Given the description of an element on the screen output the (x, y) to click on. 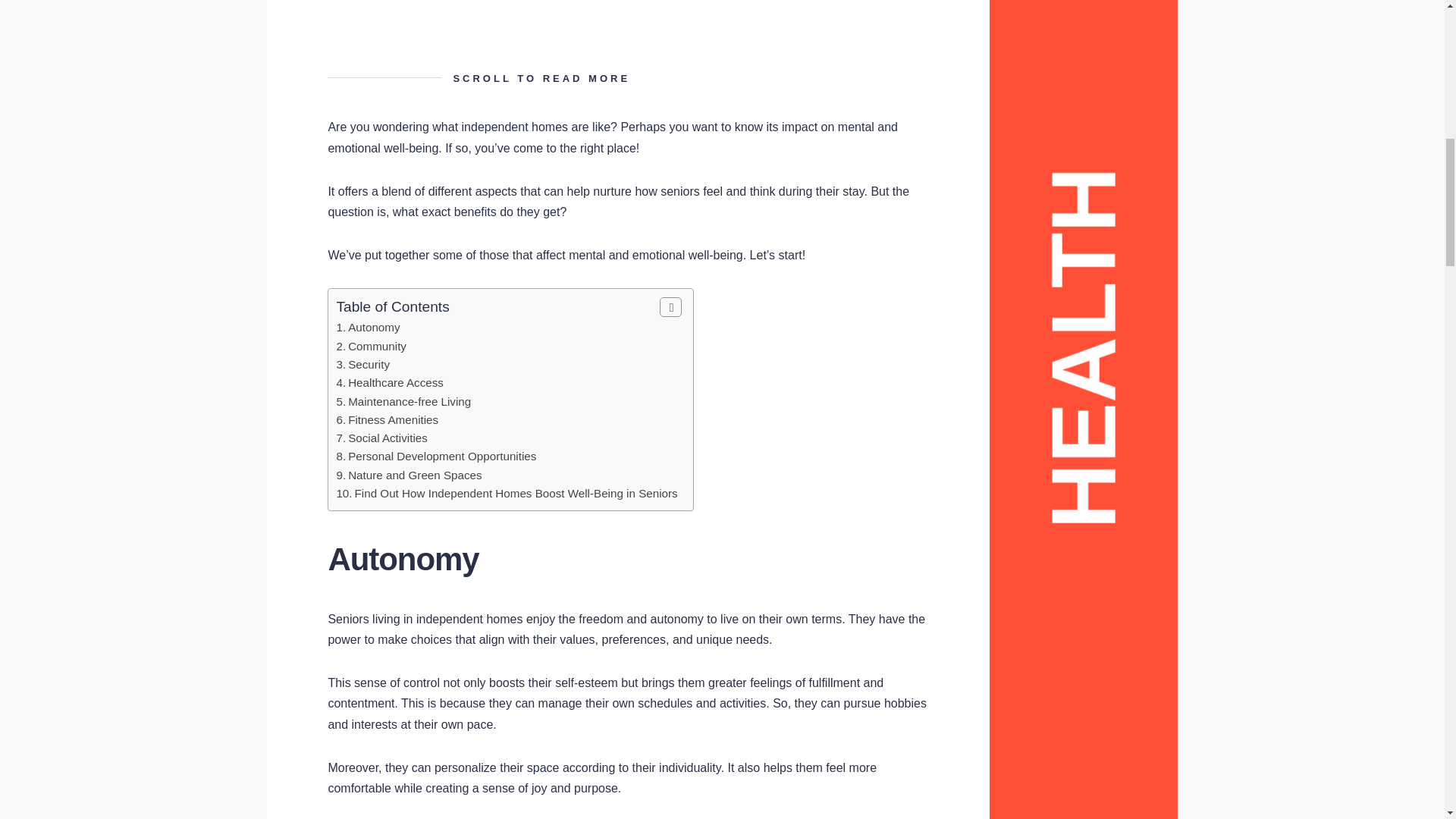
Community (376, 345)
SCROLL TO READ MORE (627, 78)
Fitness Amenities (392, 419)
Security (368, 364)
Healthcare Access (395, 382)
Find Out How Independent Homes Boost Well-Being in Seniors (516, 492)
Maintenance-free Living (408, 400)
Nature and Green Spaces (414, 474)
Social Activities (387, 437)
Nature and Green Spaces (414, 474)
Personal Development Opportunities (441, 455)
Social Activities (387, 437)
Security (368, 364)
Community (376, 345)
Maintenance-free Living (408, 400)
